Given the description of an element on the screen output the (x, y) to click on. 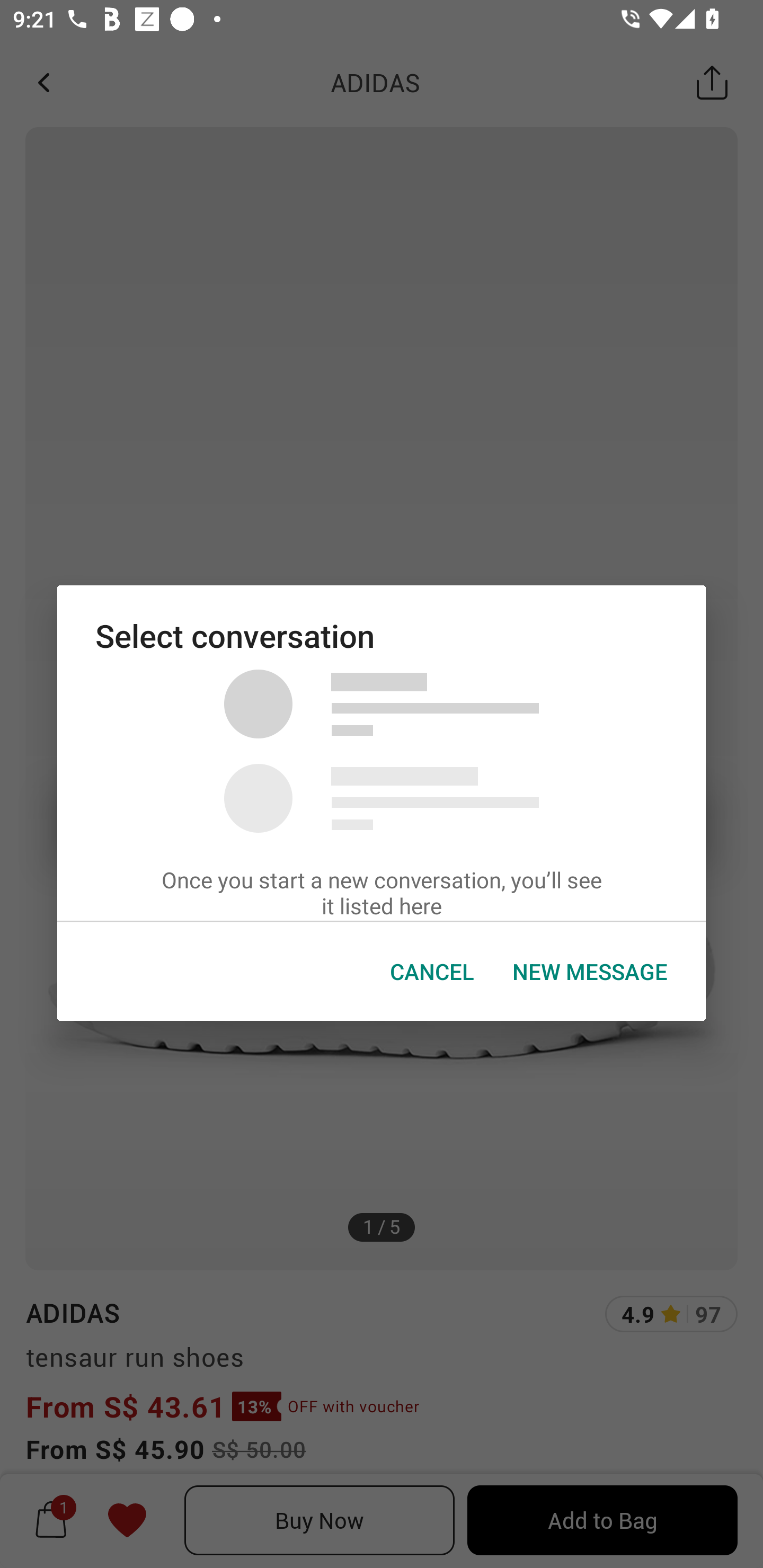
CANCEL (431, 971)
NEW MESSAGE (589, 971)
